Given the description of an element on the screen output the (x, y) to click on. 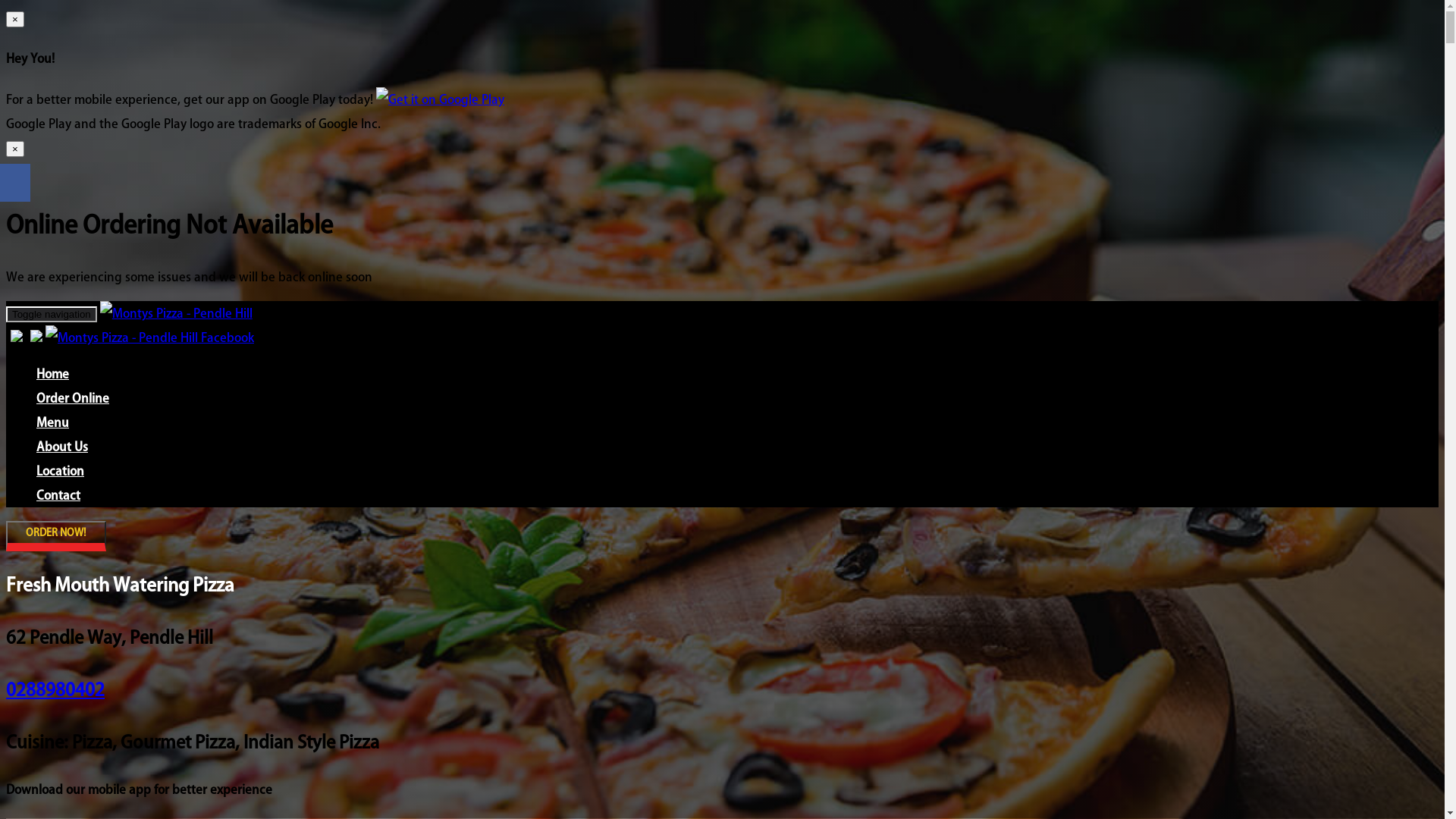
Location Element type: text (60, 470)
Menu Element type: text (52, 422)
ORDER NOW! Element type: text (56, 531)
Order Online Element type: text (72, 398)
Home Element type: text (52, 373)
Share on Facebook Element type: hover (15, 182)
ORDER NOW! Element type: text (56, 535)
Toggle navigation Element type: text (51, 314)
0288980402 Element type: text (55, 689)
About Us Element type: text (61, 446)
Contact Element type: text (58, 495)
